Given the description of an element on the screen output the (x, y) to click on. 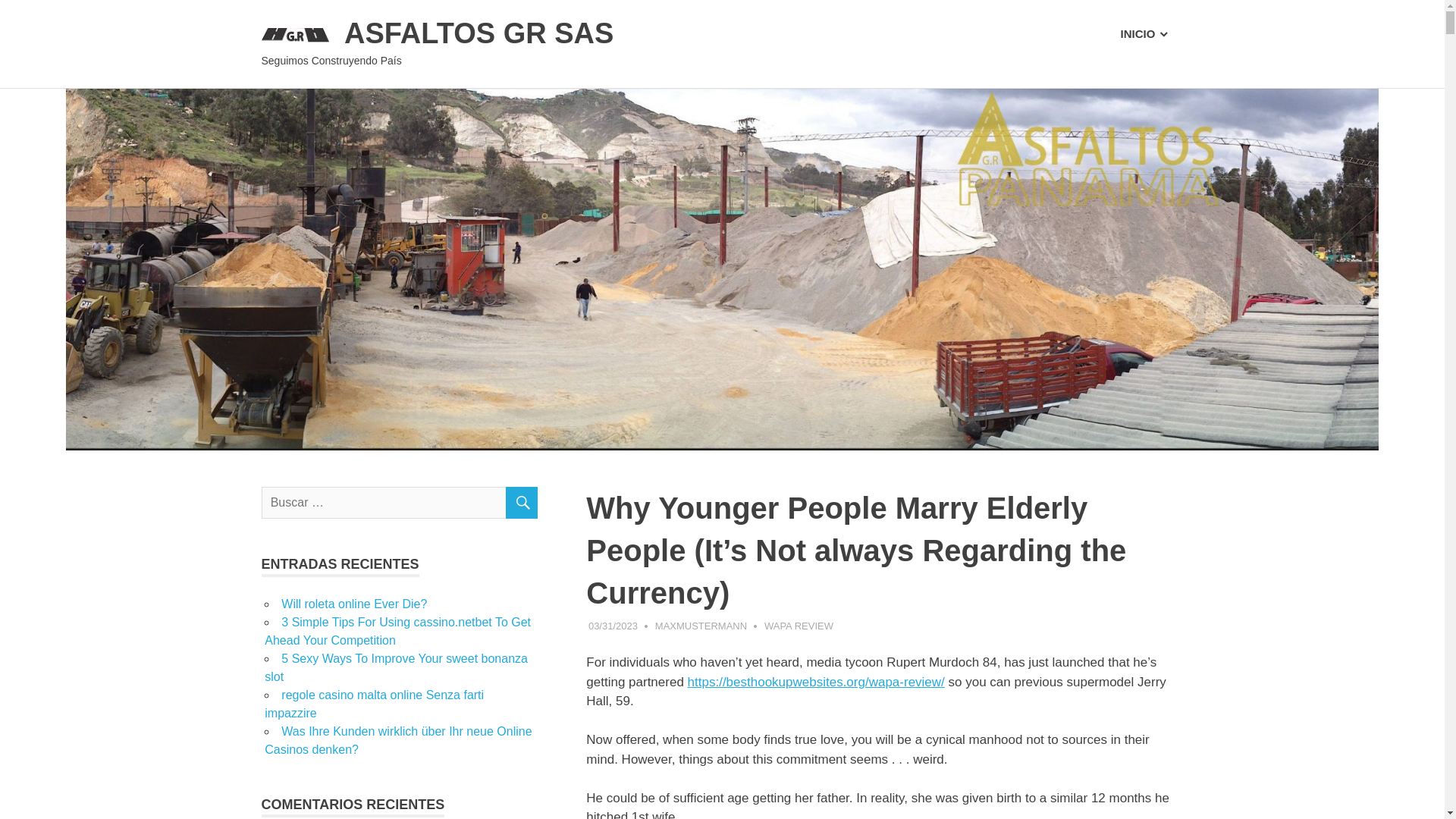
Buscar: (398, 502)
regole casino malta online Senza farti impazzire (373, 703)
INICIO (1144, 34)
Ver todas las entradas de maxmustermann (700, 625)
5 Sexy Ways To Improve Your sweet bonanza slot (395, 667)
MAXMUSTERMANN (700, 625)
Will roleta online Ever Die? (353, 603)
WAPA REVIEW (798, 625)
3:35 pm (612, 625)
ASFALTOS GR SAS (477, 33)
Inicio (1144, 34)
